Given the description of an element on the screen output the (x, y) to click on. 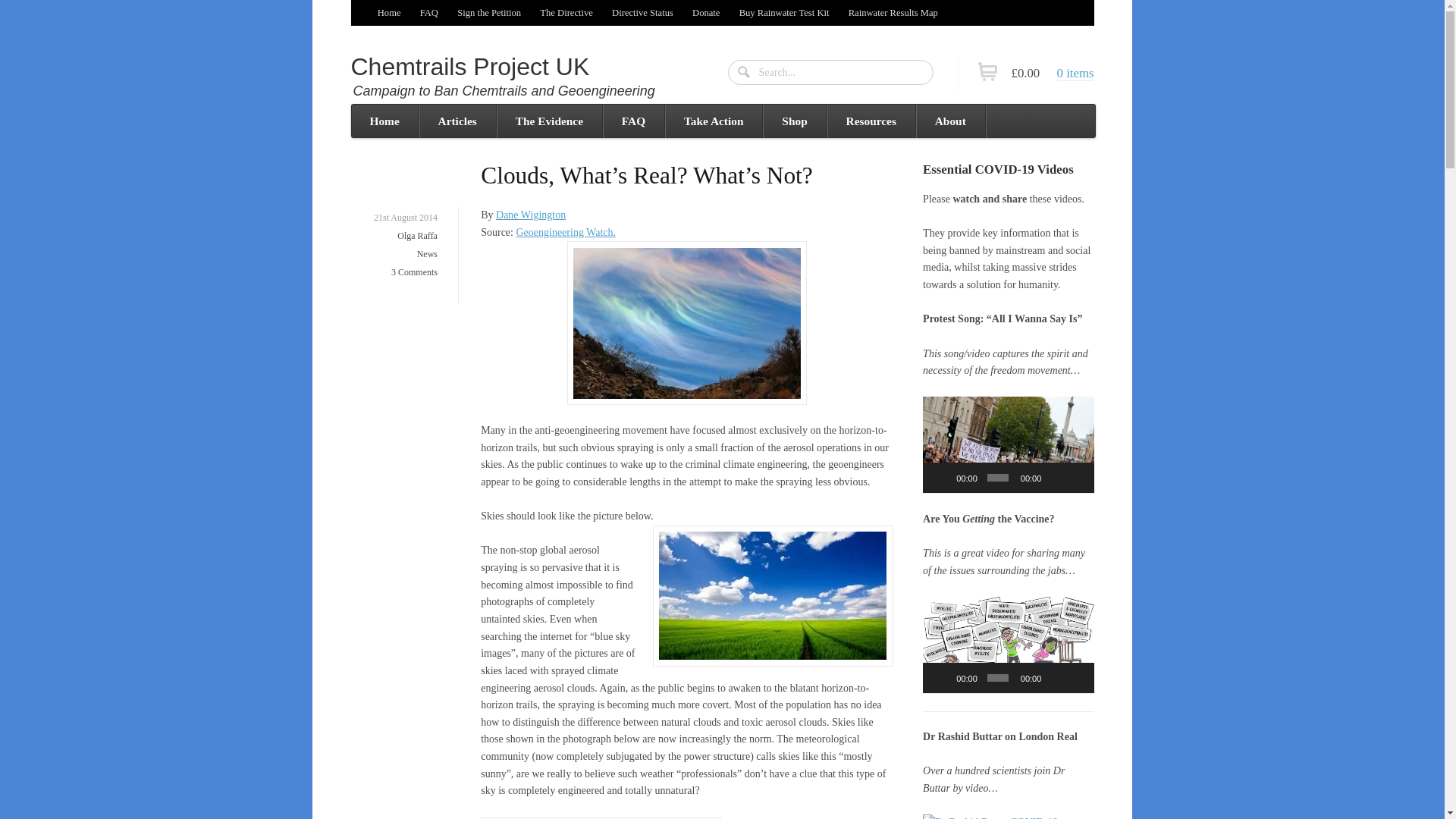
Sign the Petition (489, 12)
Home (383, 121)
Shop (793, 121)
FAQ (428, 12)
Buy Rainwater Test Kit (783, 12)
The Directive (566, 12)
Posts by Olga Raffa (417, 235)
Search (745, 73)
The Evidence (549, 121)
Home (389, 12)
